Given the description of an element on the screen output the (x, y) to click on. 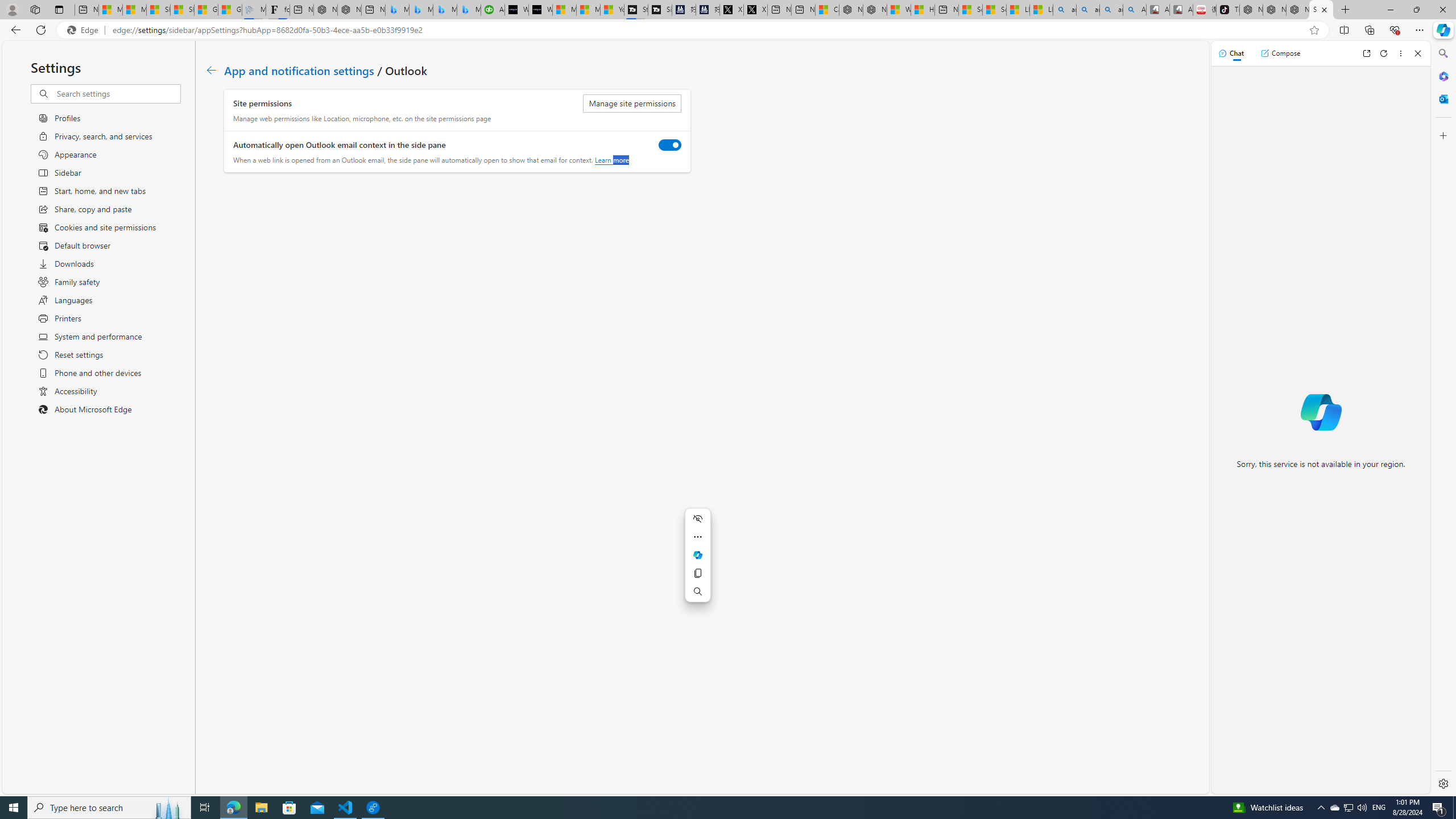
Compose (1280, 52)
Automatically open Outlook email context in the side pane (669, 144)
Manage site permissions (631, 103)
Search settings (117, 93)
